Given the description of an element on the screen output the (x, y) to click on. 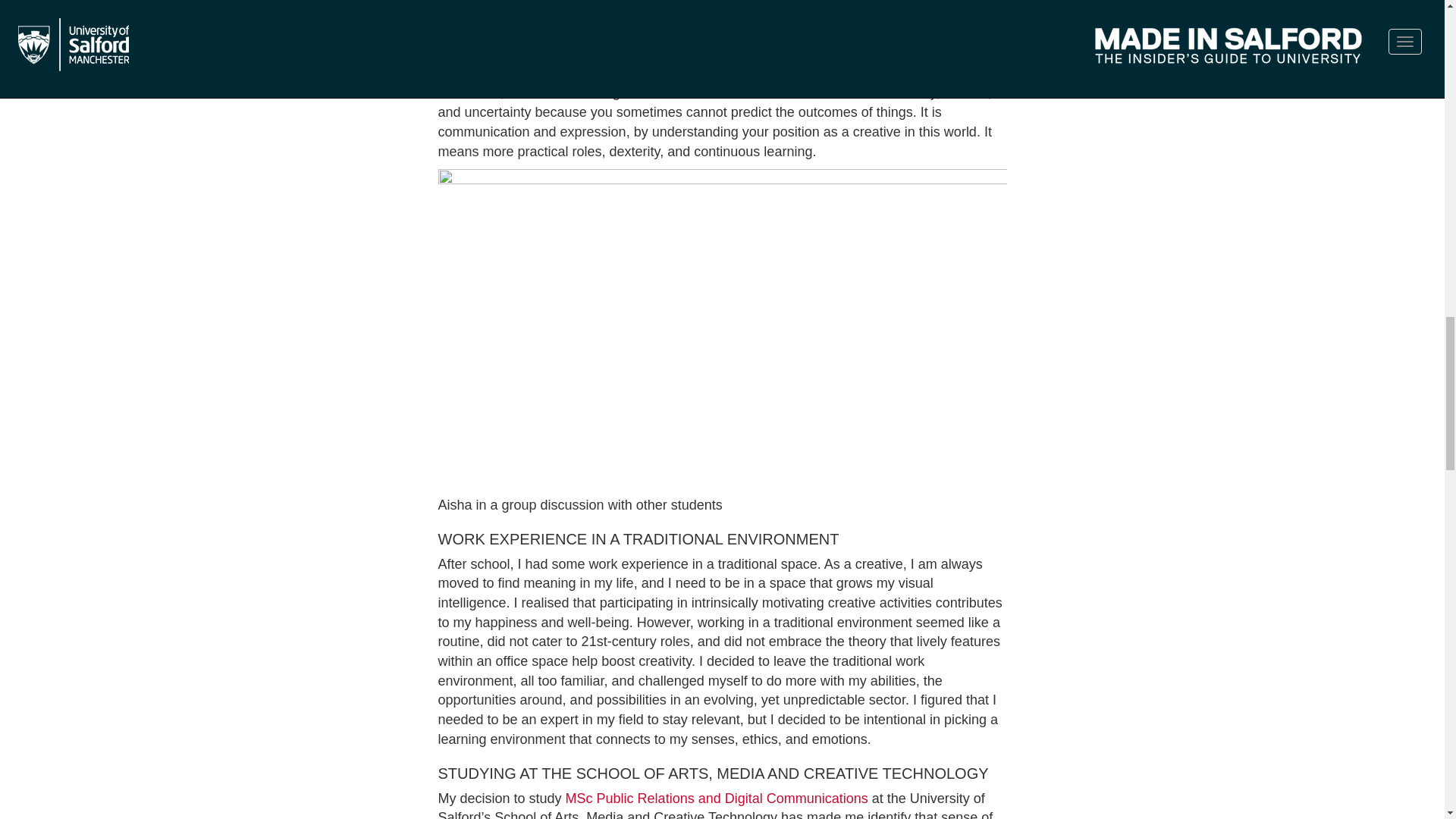
MSc Public Relations and Digital Communications (716, 798)
